Given the description of an element on the screen output the (x, y) to click on. 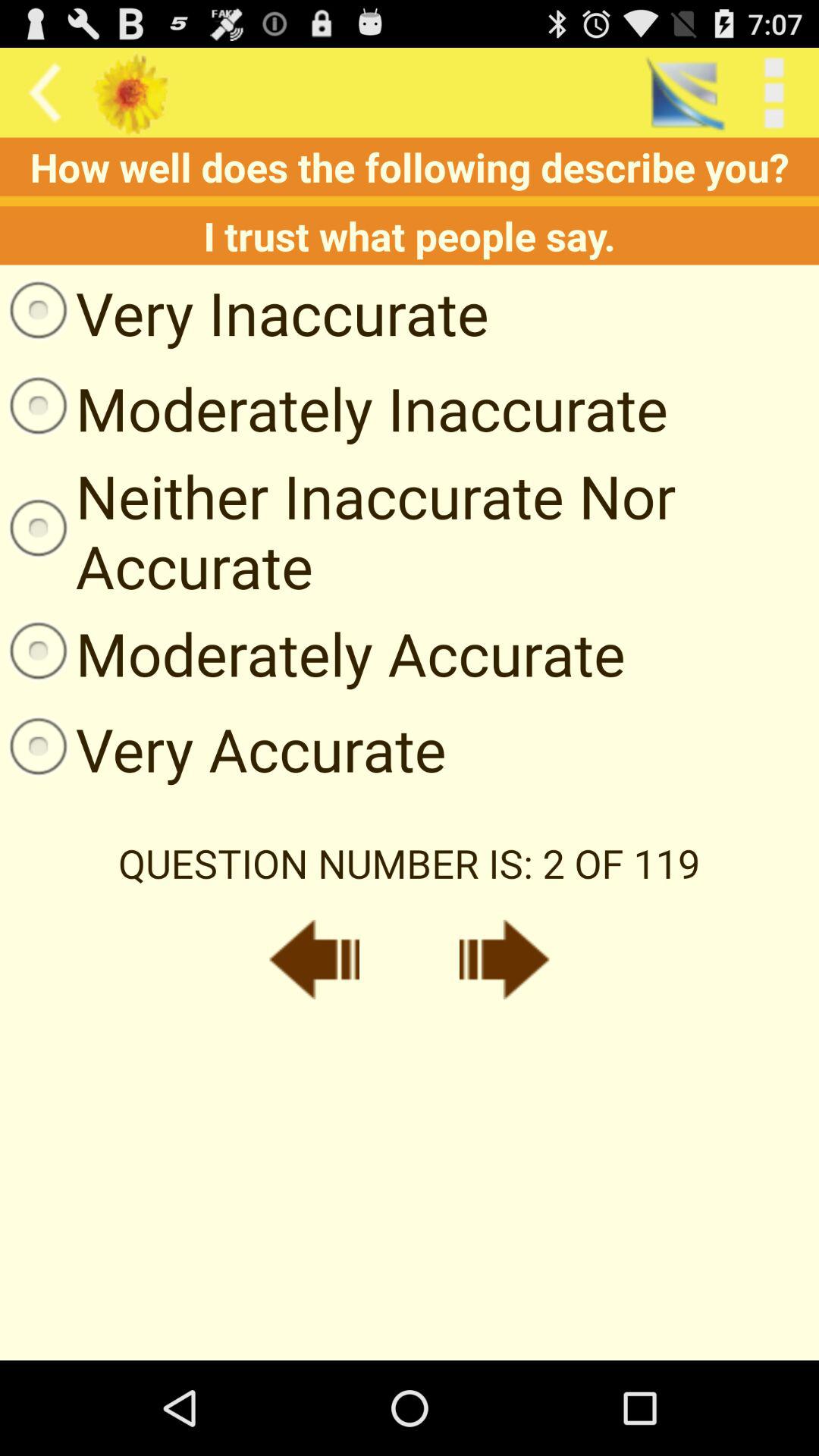
scroll to very accurate icon (223, 748)
